Given the description of an element on the screen output the (x, y) to click on. 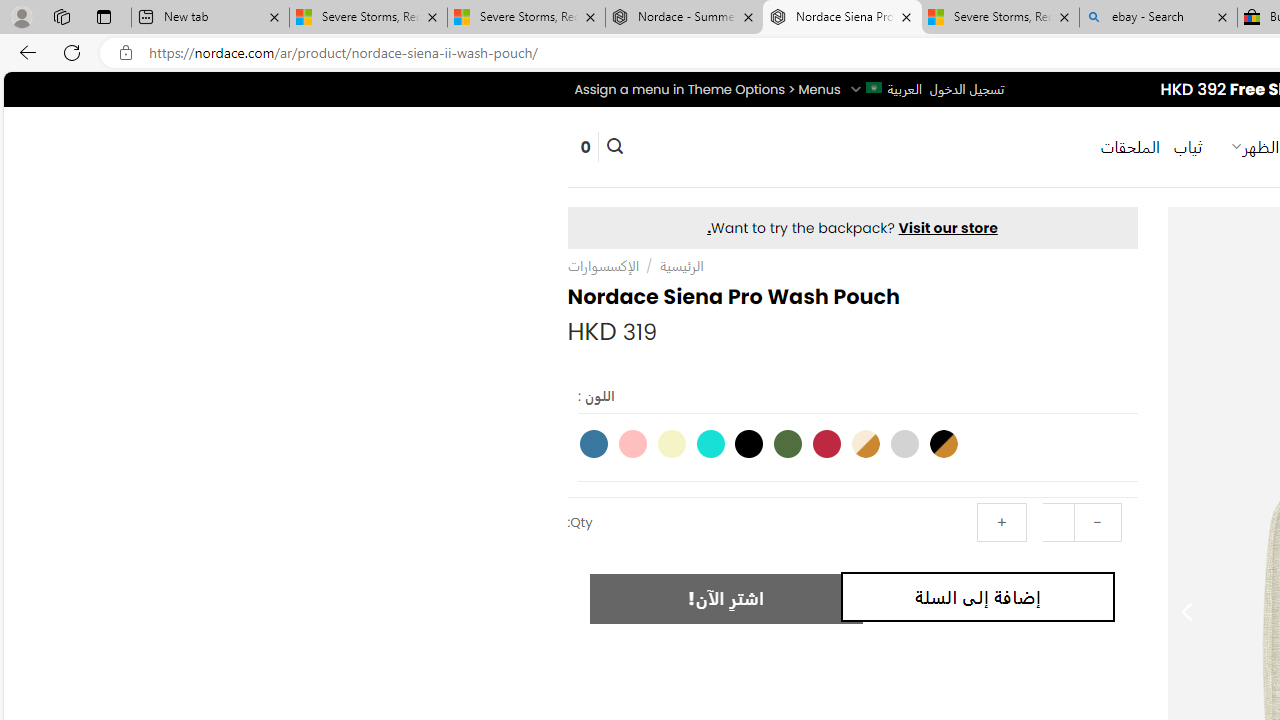
Nordace Siena Pro Wash Pouch (842, 17)
ebay - Search (1158, 17)
  0 (585, 146)
+ (1001, 521)
 0 (585, 146)
